Given the description of an element on the screen output the (x, y) to click on. 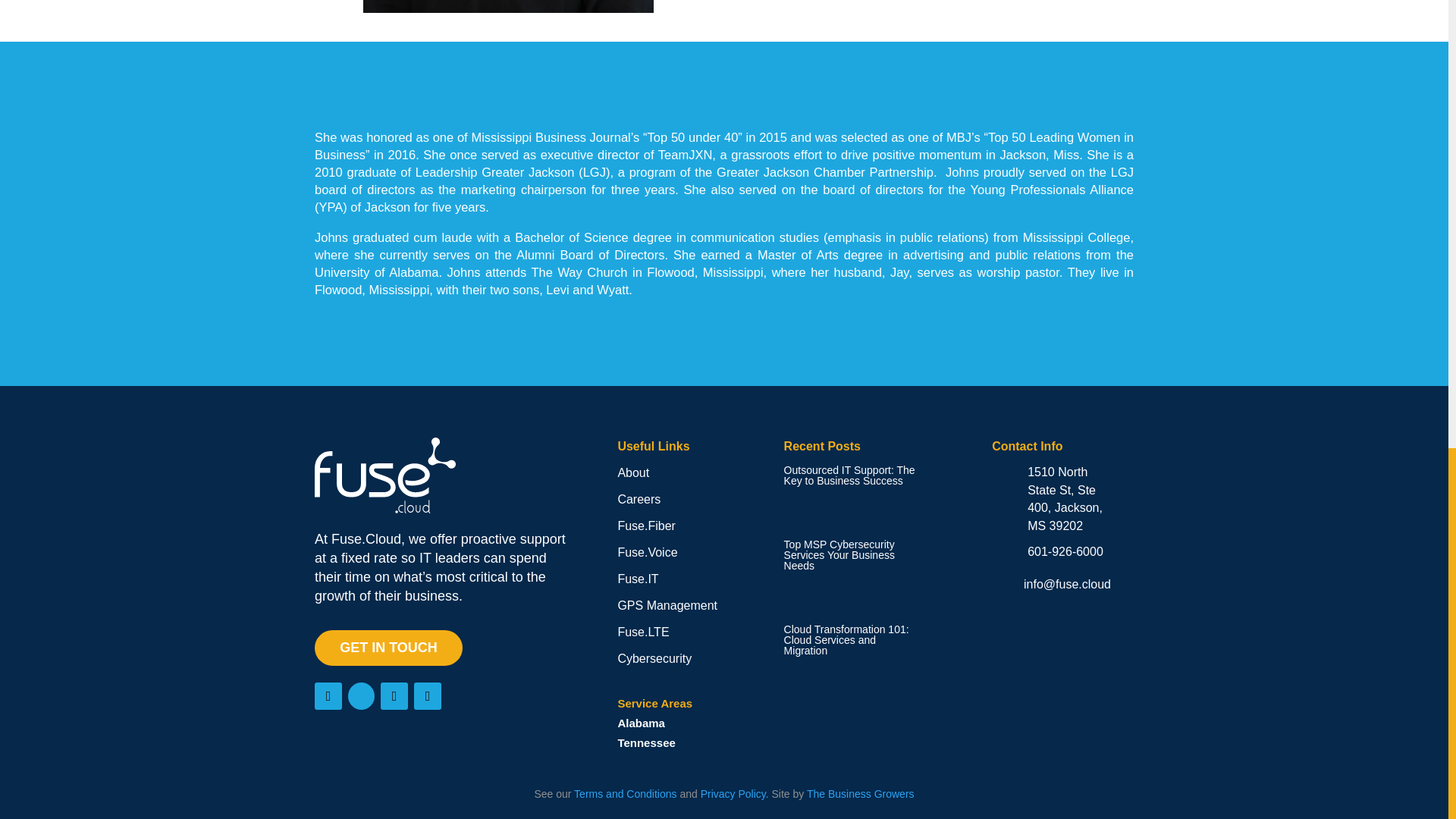
Follow on LinkedIn (427, 696)
Follow on Facebook (328, 696)
Follow on Instagram (393, 696)
Laura Johns (507, 6)
Follow on X (361, 696)
